Given the description of an element on the screen output the (x, y) to click on. 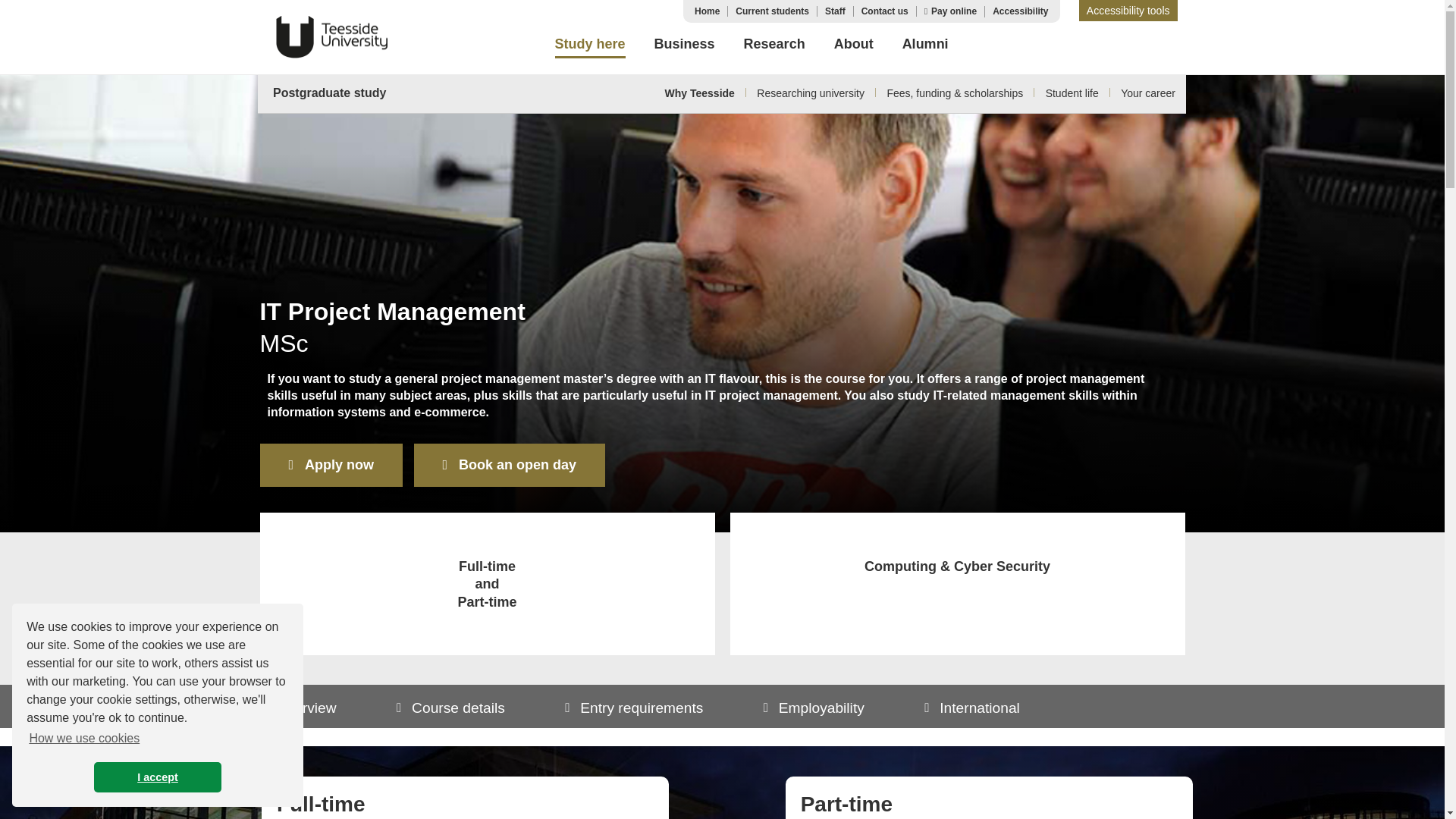
Current students (772, 10)
Home (706, 10)
Research (774, 46)
I accept (157, 777)
Staff (835, 10)
Business (683, 46)
Accessibility (1020, 10)
Home (706, 10)
Teesside University (331, 36)
Pay online (953, 10)
Study here (590, 47)
Staff (835, 10)
Contact us (884, 10)
Contact us (884, 10)
How we use cookies (83, 738)
